Given the description of an element on the screen output the (x, y) to click on. 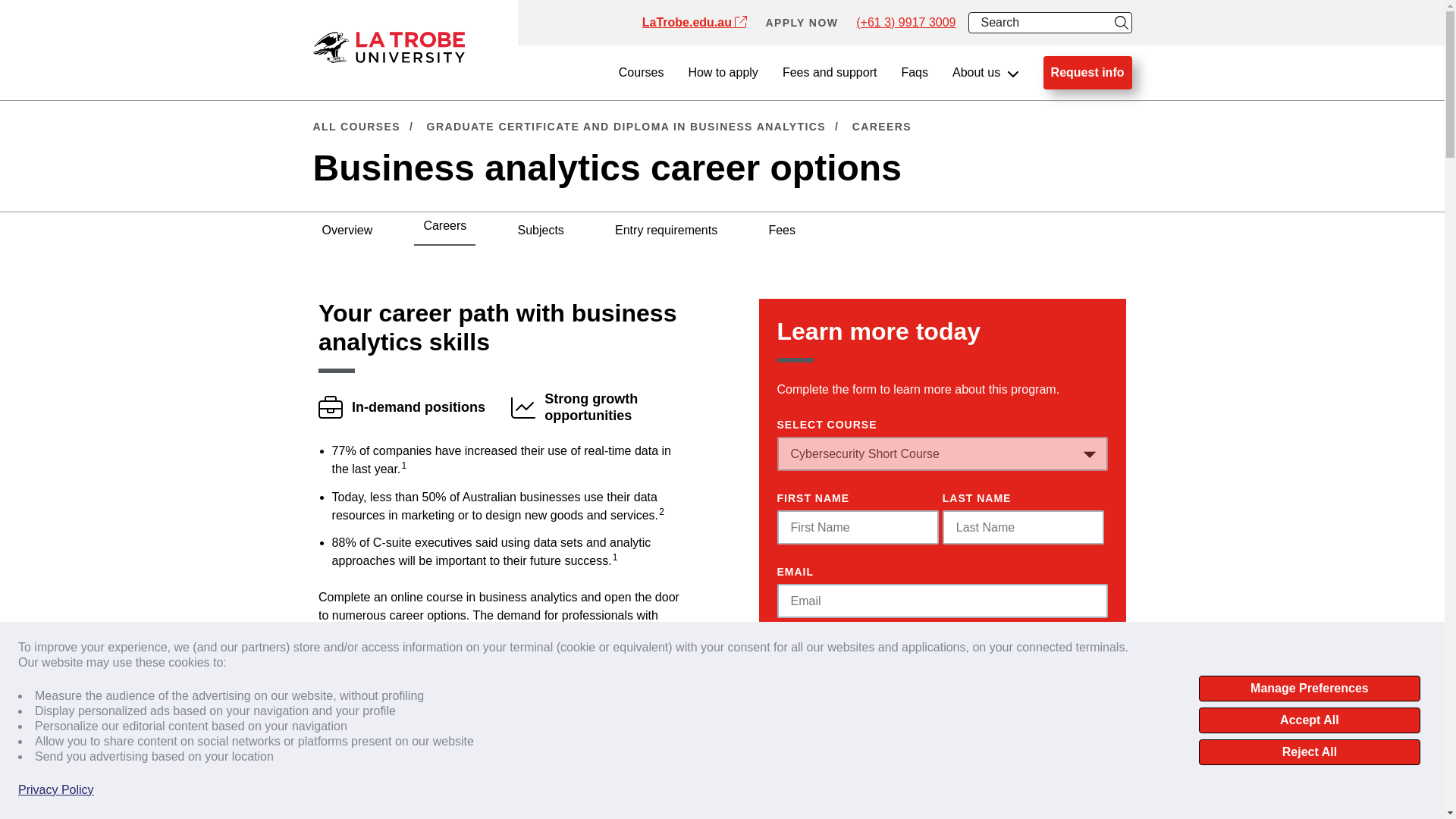
Overview (347, 230)
request info (1087, 72)
LaTrobe.edu.au (695, 22)
About us (985, 72)
submit search (1121, 22)
GRADUATE CERTIFICATE AND DIPLOMA IN BUSINESS ANALYTICS (625, 126)
APPLY NOW (801, 22)
Entry requirements (665, 230)
submit search (1121, 22)
Privacy Policy (55, 789)
ALL COURSES (356, 126)
Fees (781, 230)
Subjects (540, 230)
LaTrobeLogoRGB (388, 46)
Reject All (1309, 751)
